Given the description of an element on the screen output the (x, y) to click on. 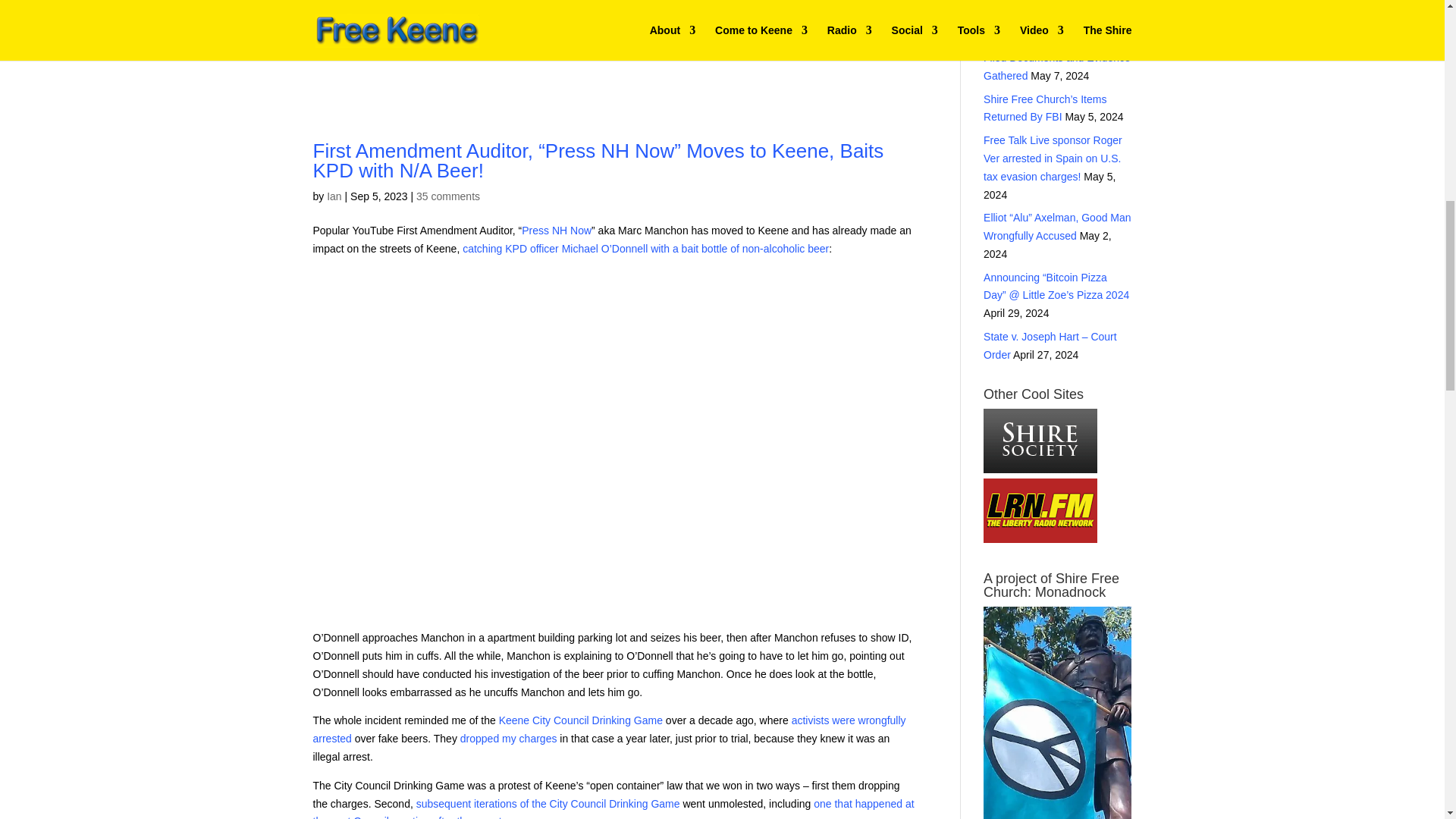
Posts by Ian (333, 196)
